Given the description of an element on the screen output the (x, y) to click on. 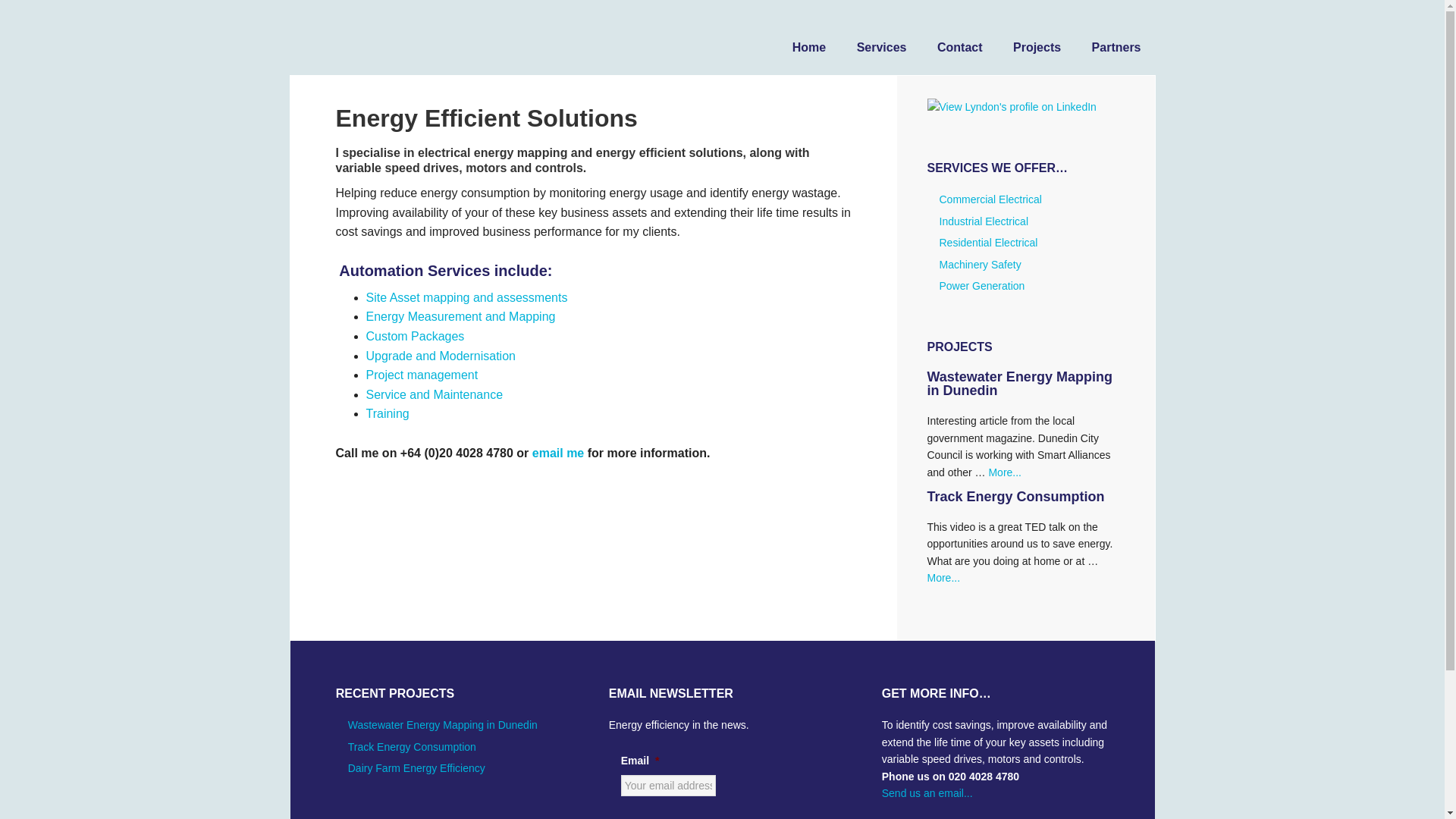
Machinery Safety (979, 264)
Service and Maintenance (433, 394)
Partners (1116, 38)
Wastewater Energy Mapping in Dunedin (1019, 383)
5 Step Energy Efficiency Process (421, 374)
Industrial Electrical (983, 221)
Send us an email... (927, 793)
email me (557, 452)
Project management (421, 374)
More... (1005, 472)
